Given the description of an element on the screen output the (x, y) to click on. 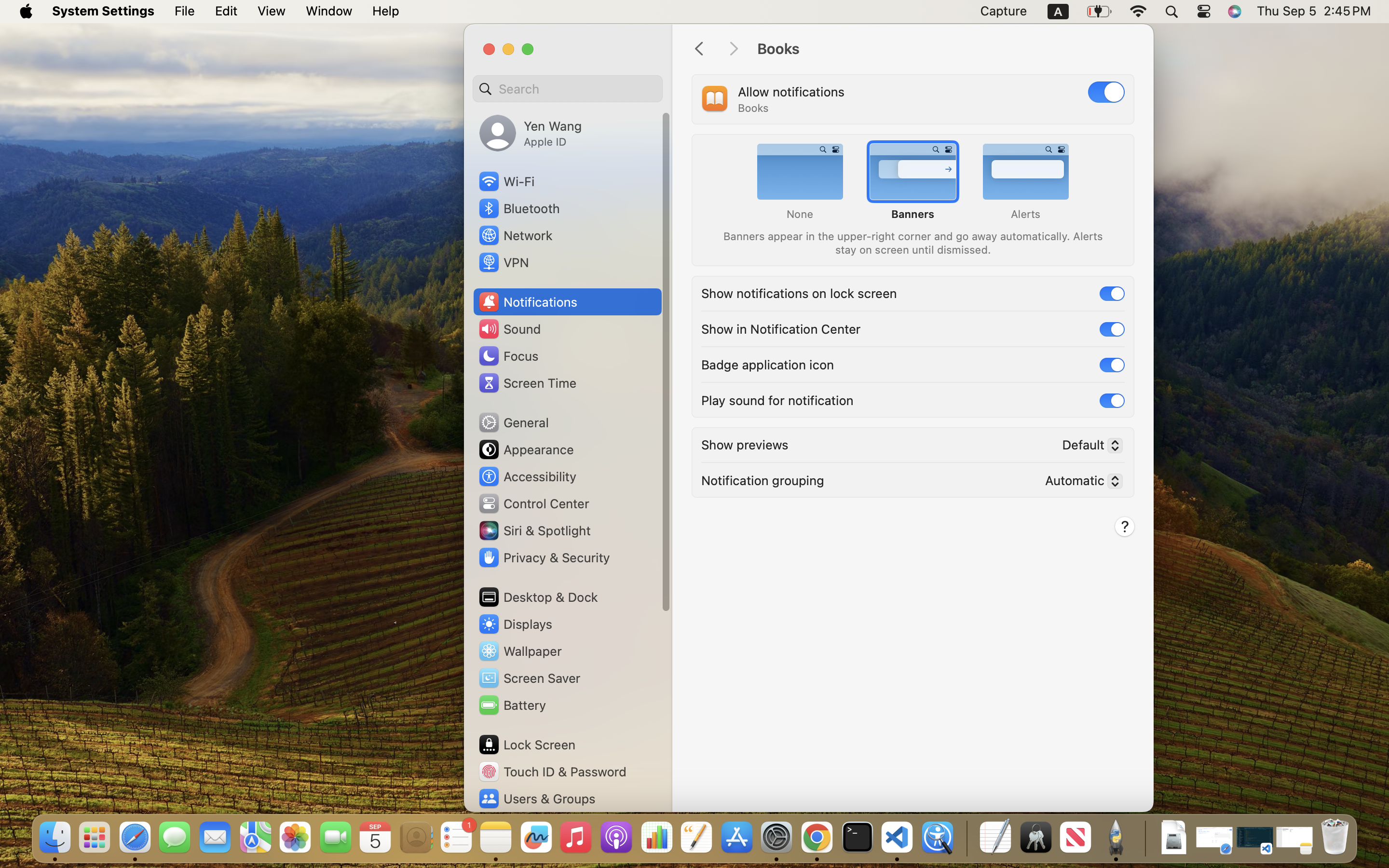
0.4285714328289032 Element type: AXDockItem (965, 837)
Show in Notification Center Element type: AXStaticText (780, 327)
Desktop & Dock Element type: AXStaticText (537, 596)
Network Element type: AXStaticText (514, 234)
Automatic Element type: AXPopUpButton (1079, 482)
